Given the description of an element on the screen output the (x, y) to click on. 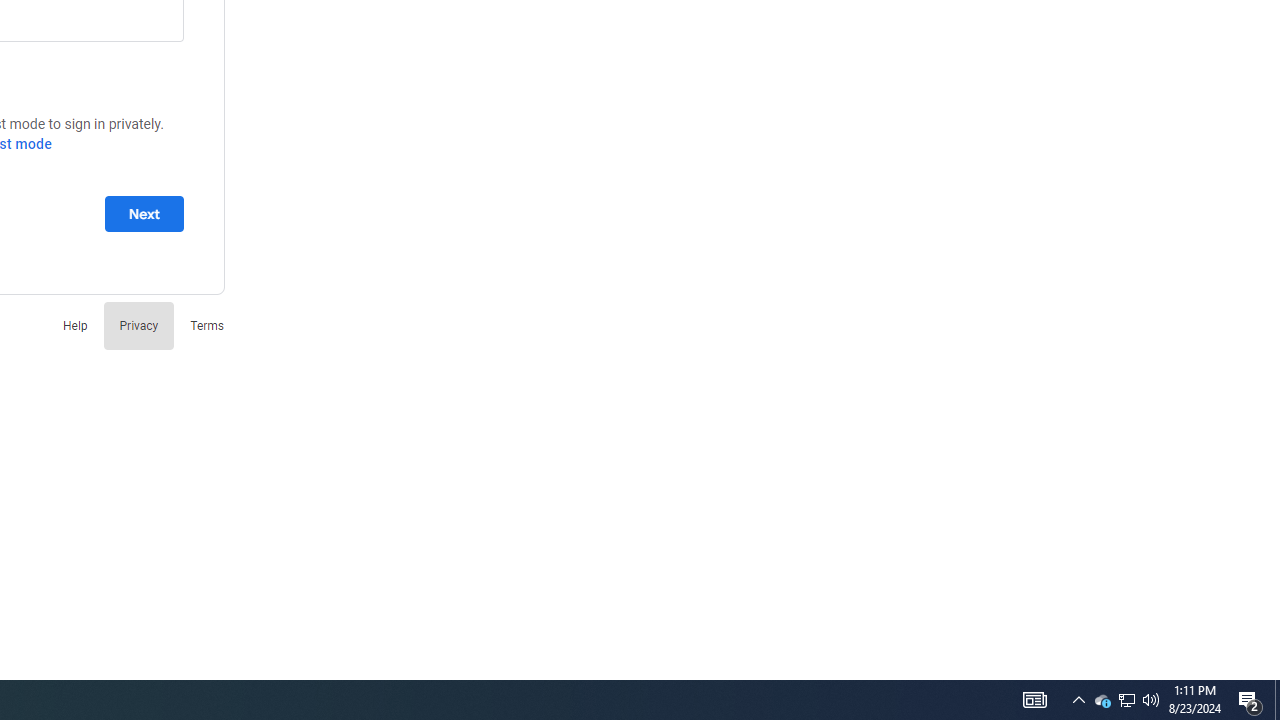
Next (143, 213)
